Given the description of an element on the screen output the (x, y) to click on. 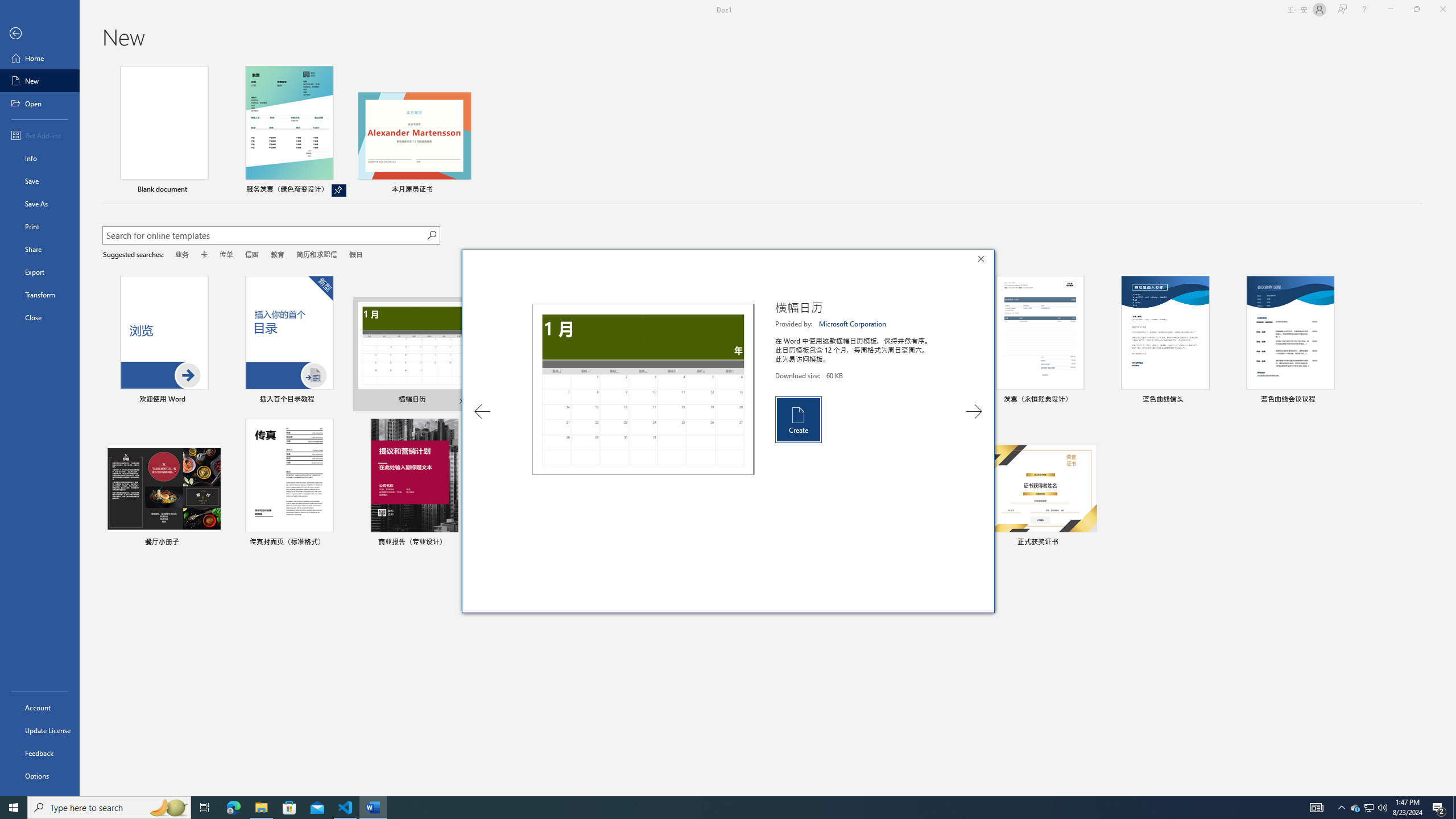
Get Add-ins (40, 134)
Info (40, 157)
User Promoted Notification Area (1368, 807)
Previous Template (481, 411)
Search for online templates (264, 237)
Search highlights icon opens search home window (167, 807)
